Given the description of an element on the screen output the (x, y) to click on. 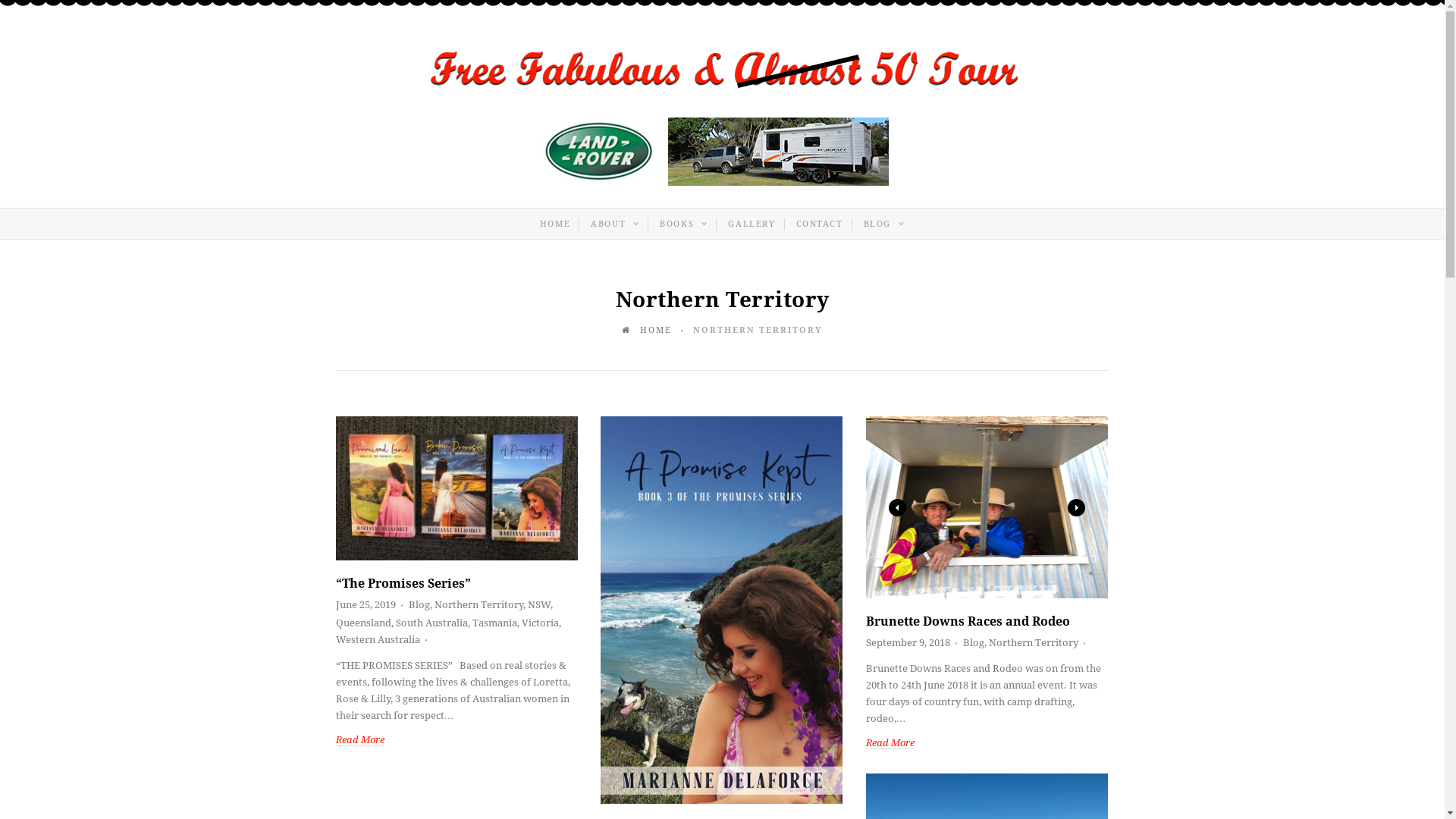
GALLERY Element type: text (751, 224)
WordPress Element type: hover (721, 182)
Read More Element type: text (364, 740)
Western Australia Element type: text (377, 639)
Victoria Element type: text (539, 622)
BOOKS Element type: text (683, 224)
Free, Fabulous & Almost 50 Tour Element type: hover (721, 93)
South Australia Element type: text (431, 622)
Northern Territory Element type: text (478, 604)
BLOG Element type: text (884, 224)
Queensland Element type: text (362, 622)
CONTACT Element type: text (819, 224)
NSW Element type: text (538, 604)
Northern Territory Element type: text (1033, 642)
HOME Element type: text (648, 330)
Read More Element type: text (895, 743)
Tasmania Element type: text (493, 622)
ABOUT Element type: text (614, 224)
HOME Element type: text (554, 224)
Blog Element type: text (973, 642)
Blog Element type: text (418, 604)
Brunette Downs Races and Rodeo Element type: text (968, 621)
